Given the description of an element on the screen output the (x, y) to click on. 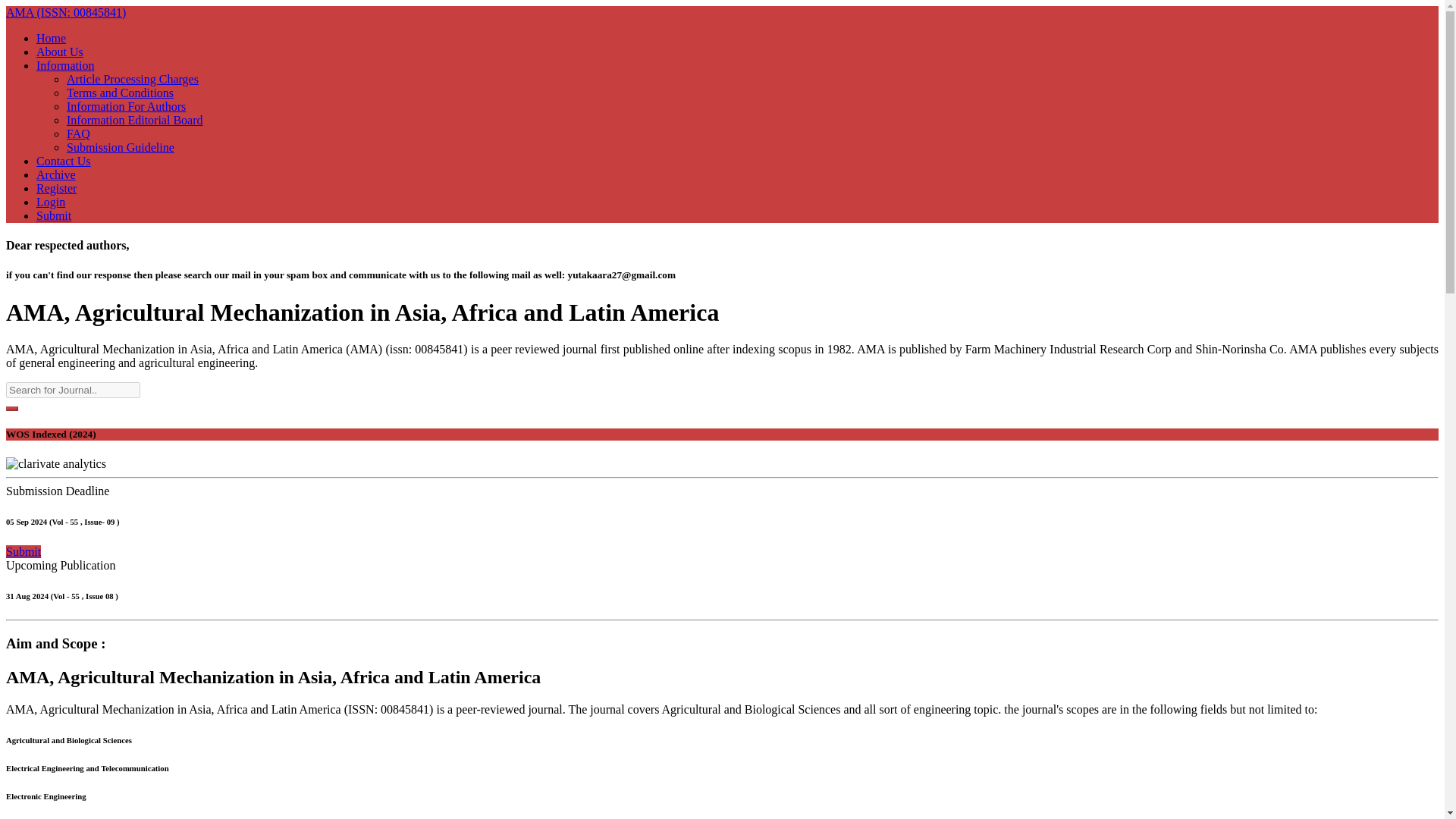
Register (56, 187)
Information For Authors (126, 106)
Submit (22, 551)
Contact Us (63, 160)
Editorial Board (134, 119)
Information Editorial Board (134, 119)
Archive (55, 174)
Faq (78, 133)
For Authors (126, 106)
Submission Guide Line (120, 146)
